Given the description of an element on the screen output the (x, y) to click on. 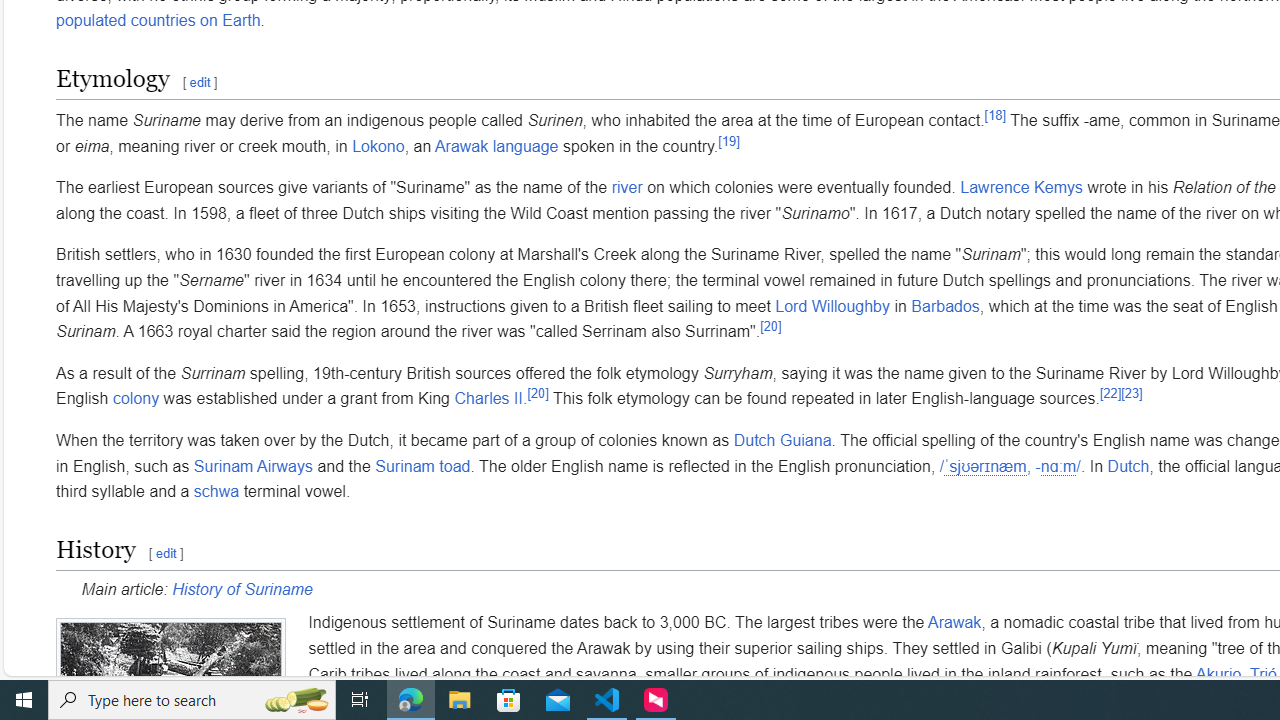
Barbados (945, 305)
[19] (728, 141)
Lokono (378, 145)
[18] (995, 115)
[23] (1132, 393)
edit (165, 552)
Surinam Airways (253, 466)
[20] (538, 393)
